Given the description of an element on the screen output the (x, y) to click on. 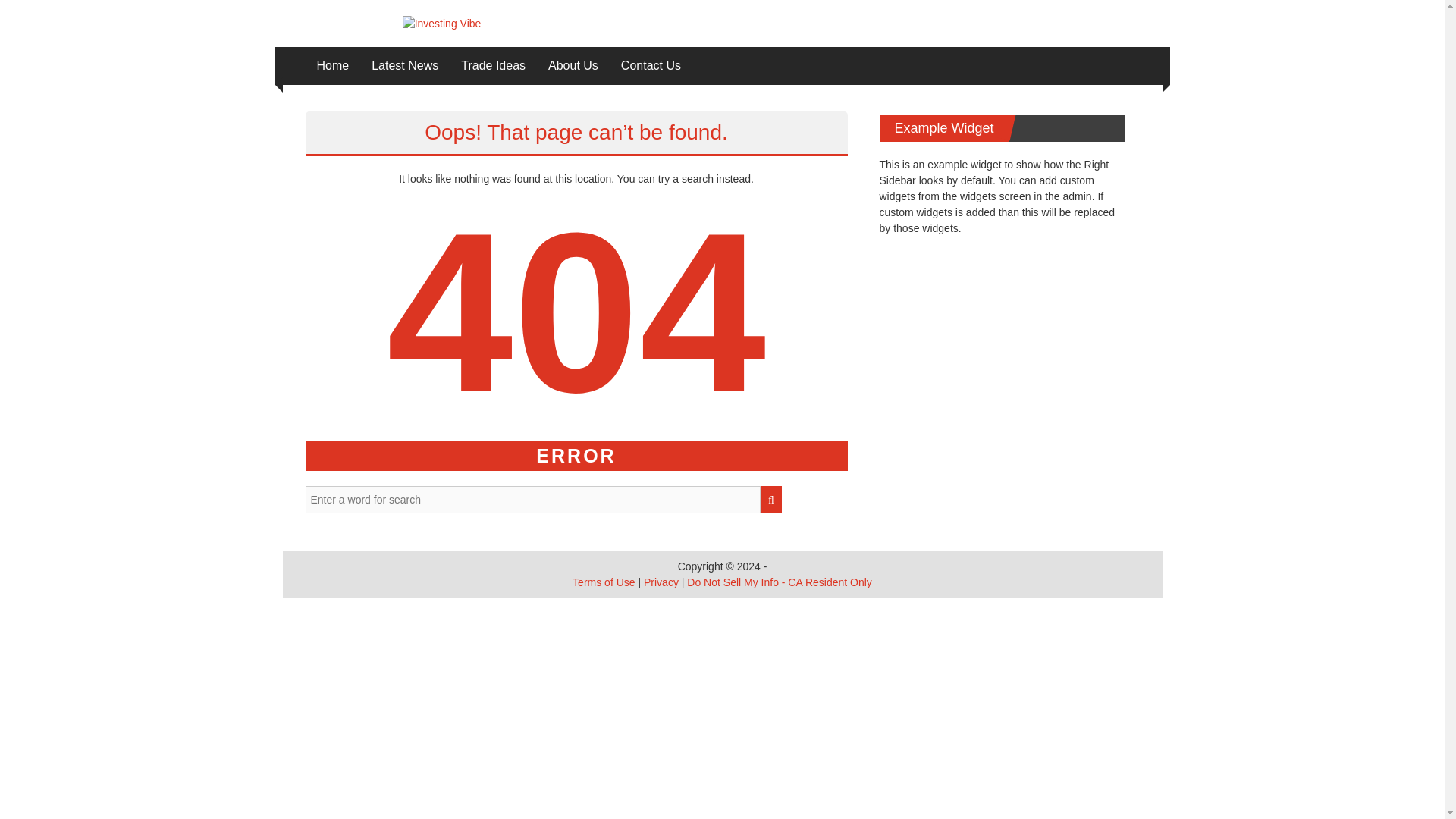
Contact Us (651, 65)
Terms of Use (603, 582)
Do Not Sell My Info - CA Resident Only (779, 582)
Privacy (660, 582)
Latest News (404, 65)
Trade Ideas (493, 65)
About Us (573, 65)
